Given the description of an element on the screen output the (x, y) to click on. 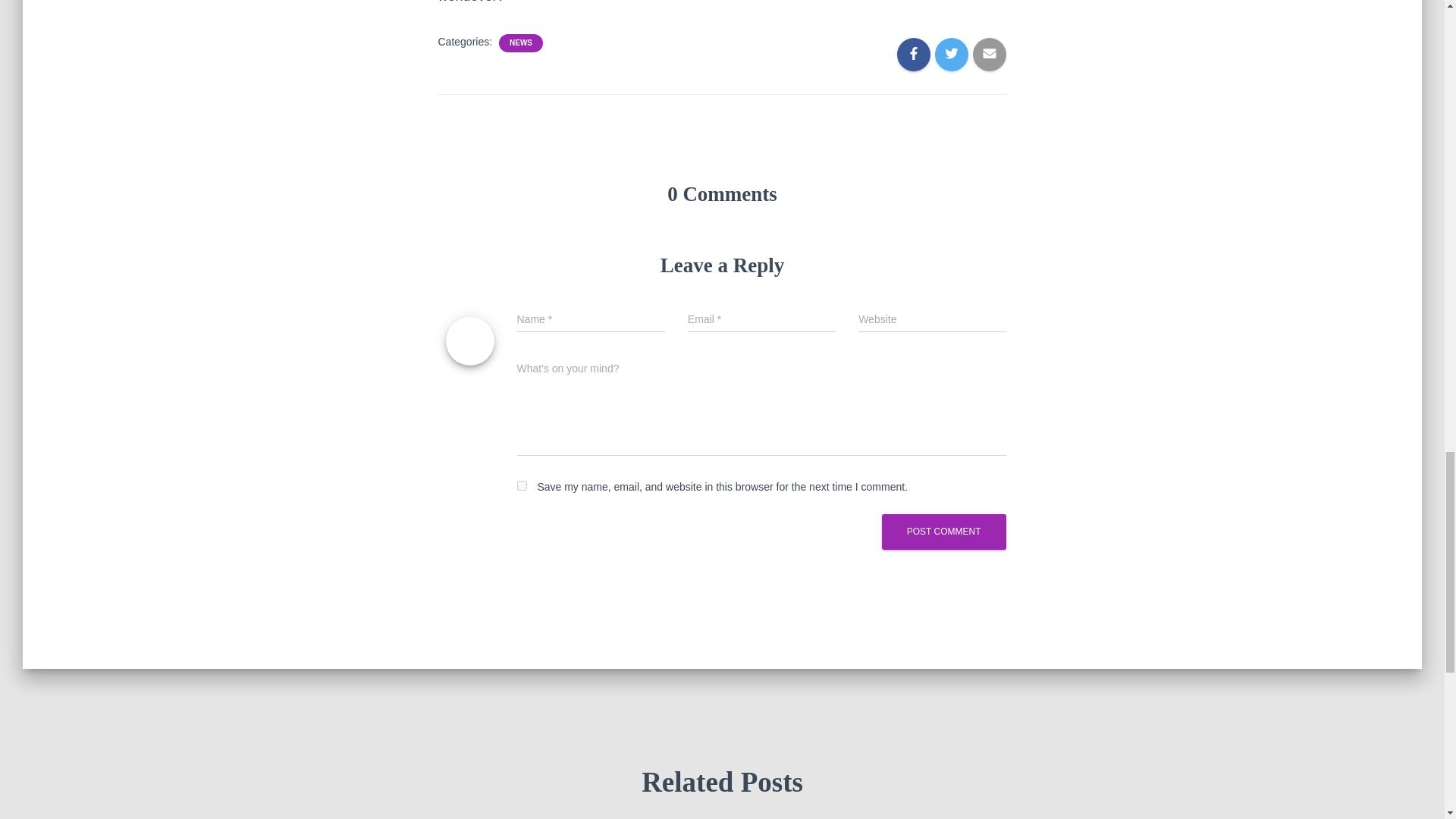
NEWS (521, 42)
Post Comment (944, 531)
Post Comment (944, 531)
yes (521, 485)
